Given the description of an element on the screen output the (x, y) to click on. 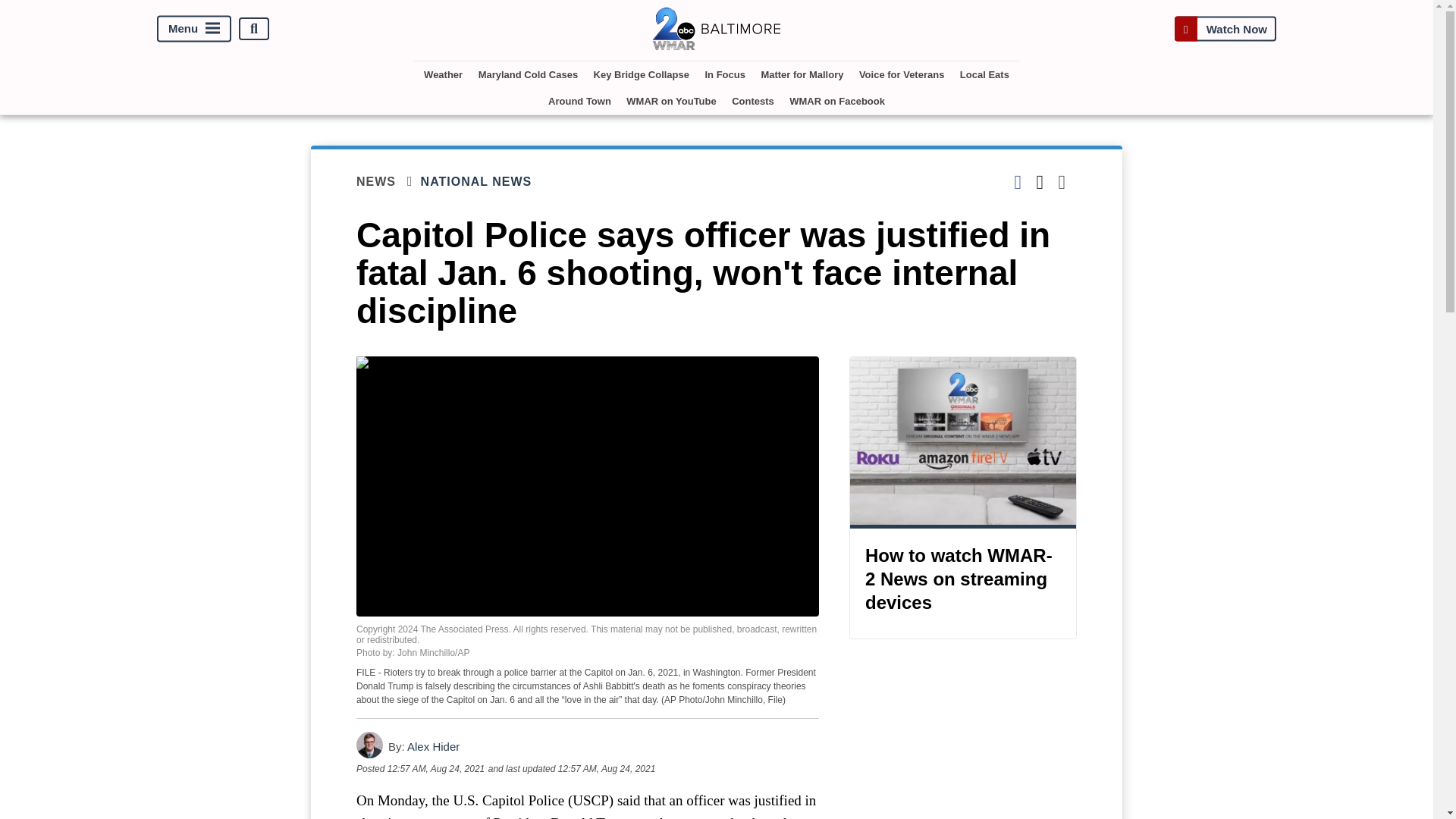
Menu (194, 28)
Watch Now (1224, 29)
